Given the description of an element on the screen output the (x, y) to click on. 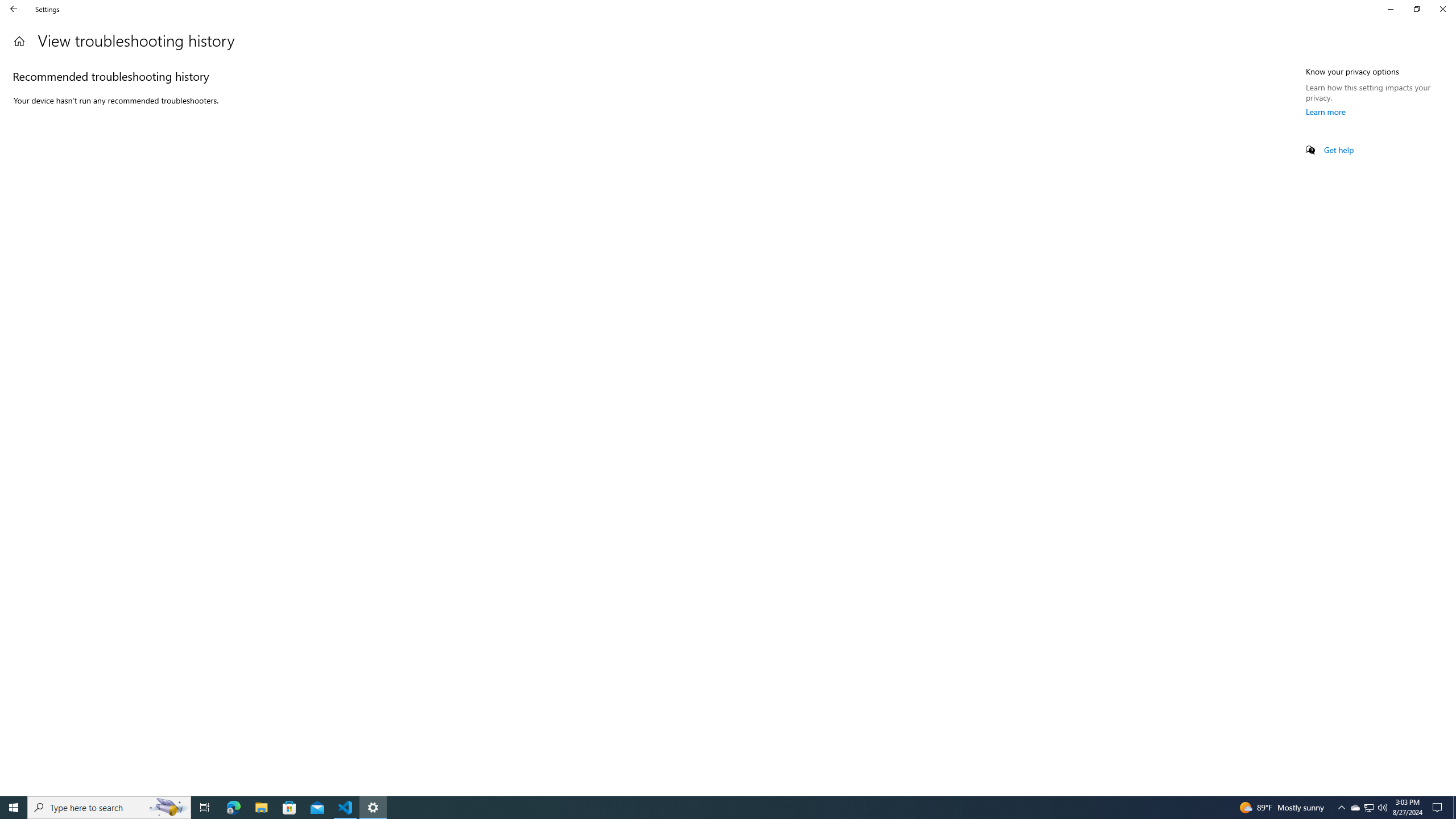
Close Settings (1442, 9)
Home (19, 40)
Learn more (1326, 111)
Get help (1338, 149)
